Given the description of an element on the screen output the (x, y) to click on. 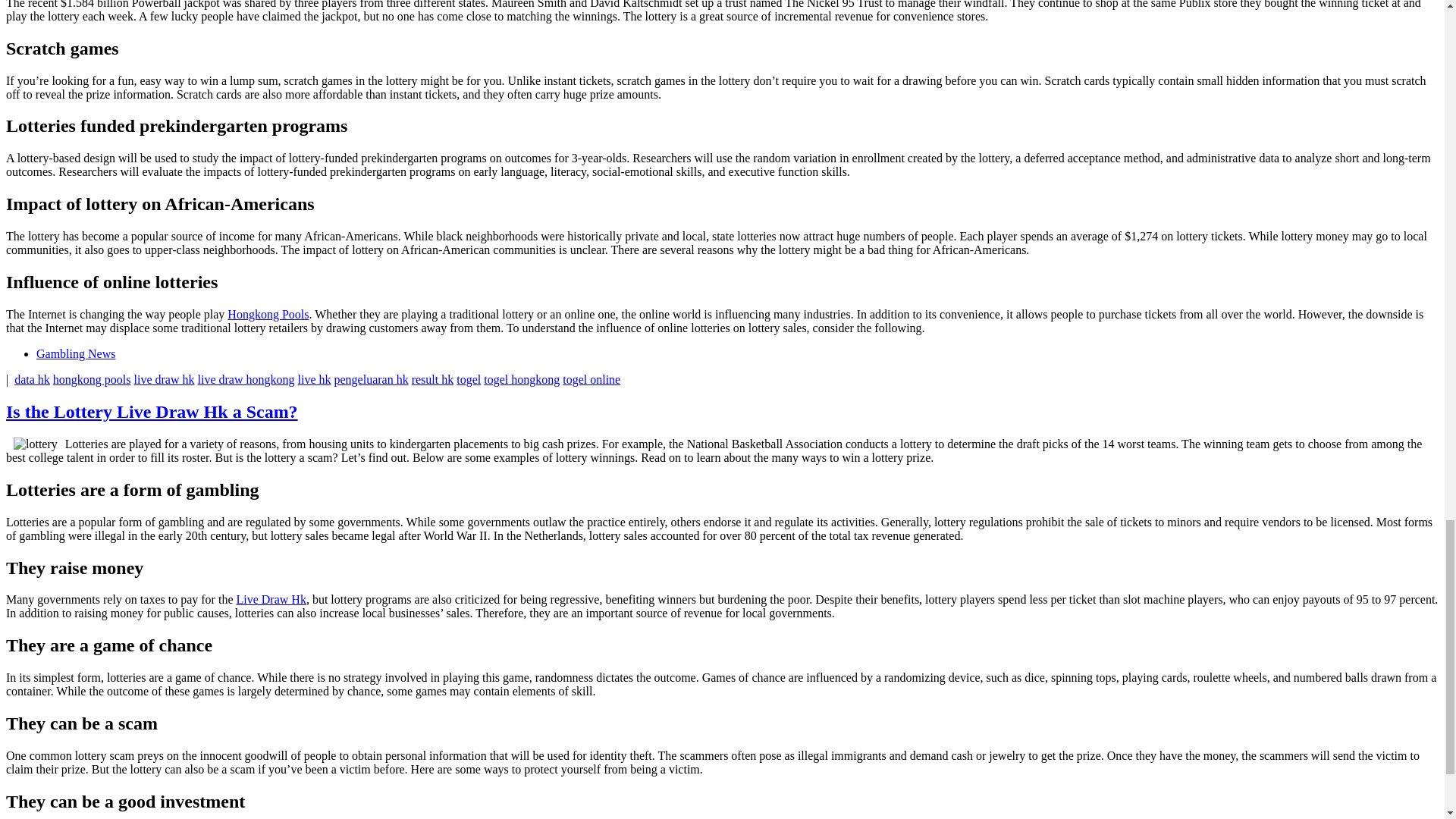
Is the Lottery Live Draw Hk a Scam? (151, 411)
